Given the description of an element on the screen output the (x, y) to click on. 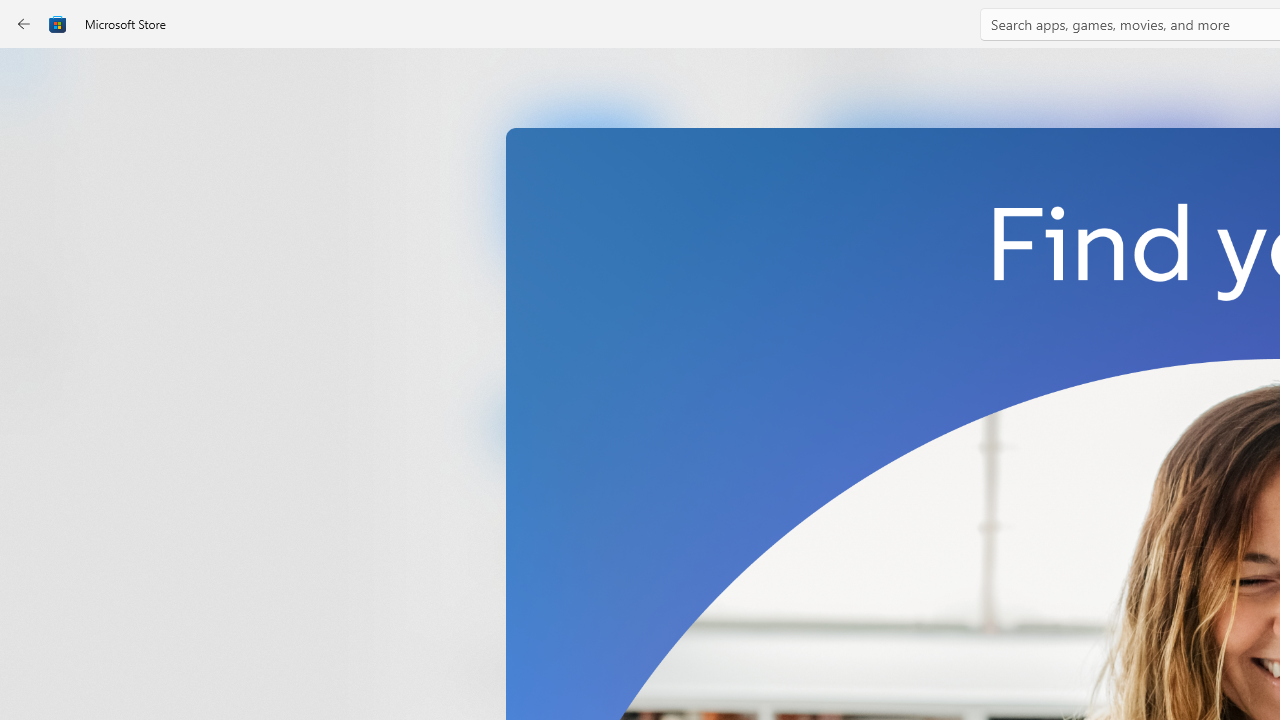
Gaming (35, 203)
LinkedIn (585, 333)
Arcade (35, 265)
Entertainment (35, 327)
Get (586, 424)
AI Hub (35, 390)
3.9 stars. Click to skip to ratings and reviews (542, 556)
Screenshot 1 (1029, 279)
Home (35, 79)
Back (24, 24)
Class: Image (58, 24)
